Given the description of an element on the screen output the (x, y) to click on. 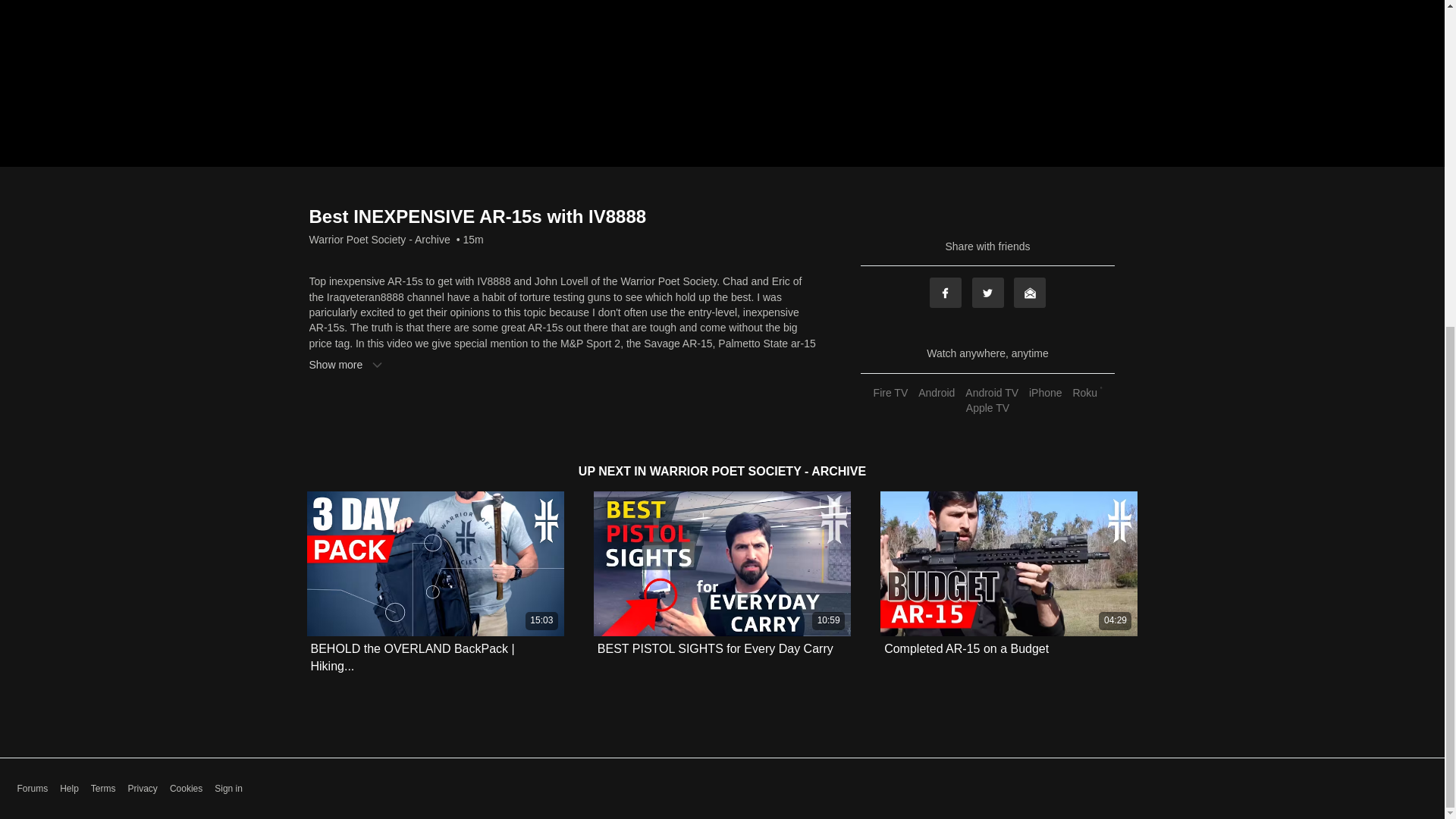
Android TV (991, 392)
Android (936, 392)
Help (68, 788)
10:59 (722, 563)
15:03 (434, 563)
Completed AR-15 on a Budget (965, 648)
iPhone (1045, 392)
04:29 (1008, 563)
Completed AR-15 on a Budget (965, 648)
Apple TV (987, 408)
Facebook (945, 292)
Twitter (988, 292)
Forums (32, 788)
Warrior Poet Society - Archive (378, 239)
WARRIOR POET SOCIETY - ARCHIVE (757, 471)
